Given the description of an element on the screen output the (x, y) to click on. 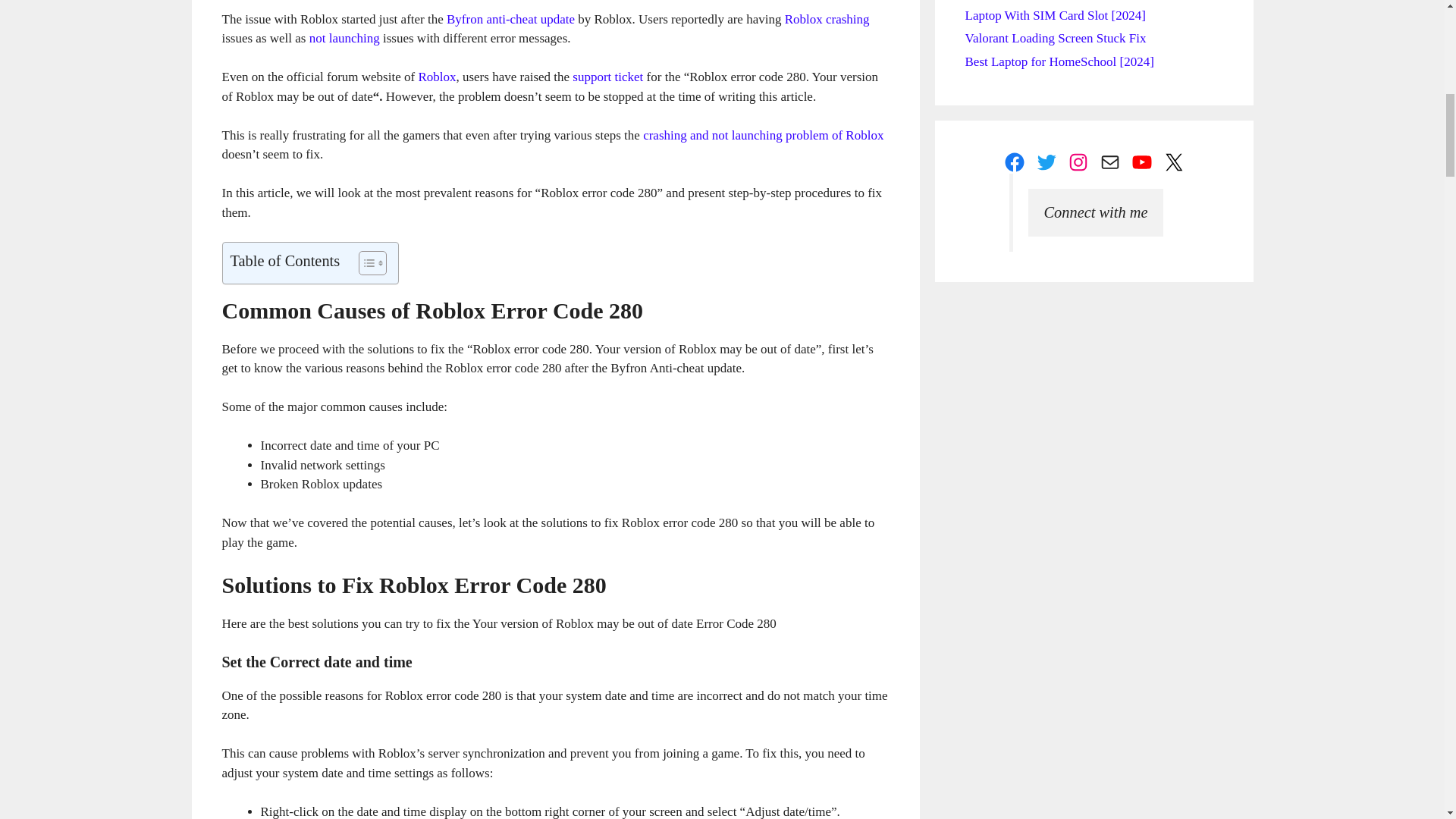
Roblox crashing (826, 19)
crashing and not launching problem of Roblox (763, 134)
Roblox (436, 76)
Byfron anti-cheat update (510, 19)
support ticket (607, 76)
not launching (344, 38)
